Given the description of an element on the screen output the (x, y) to click on. 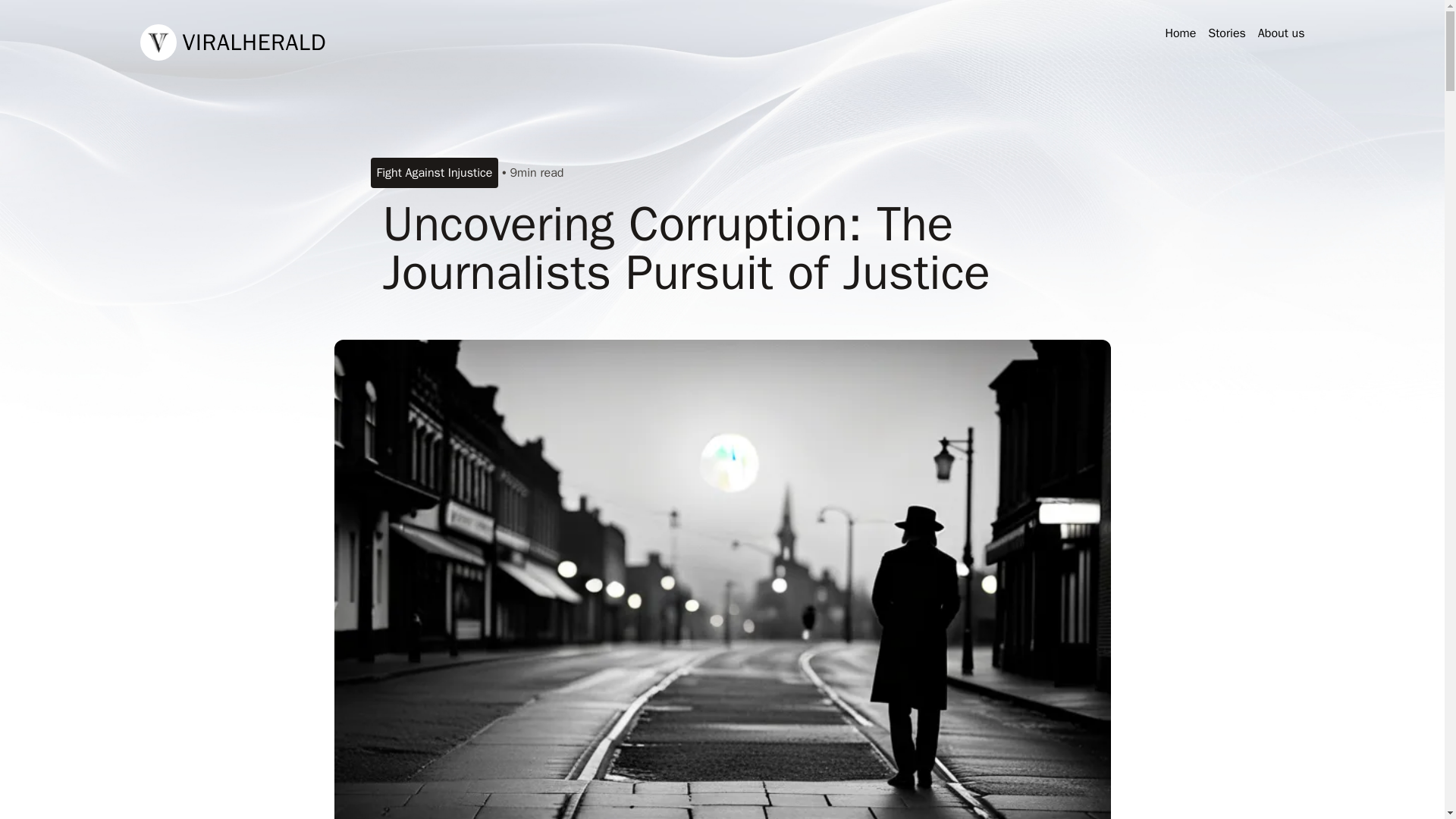
About us (1280, 32)
VIRALHERALD (232, 42)
Home (1179, 32)
Stories (1227, 32)
Fight Against Injustice (433, 173)
